Given the description of an element on the screen output the (x, y) to click on. 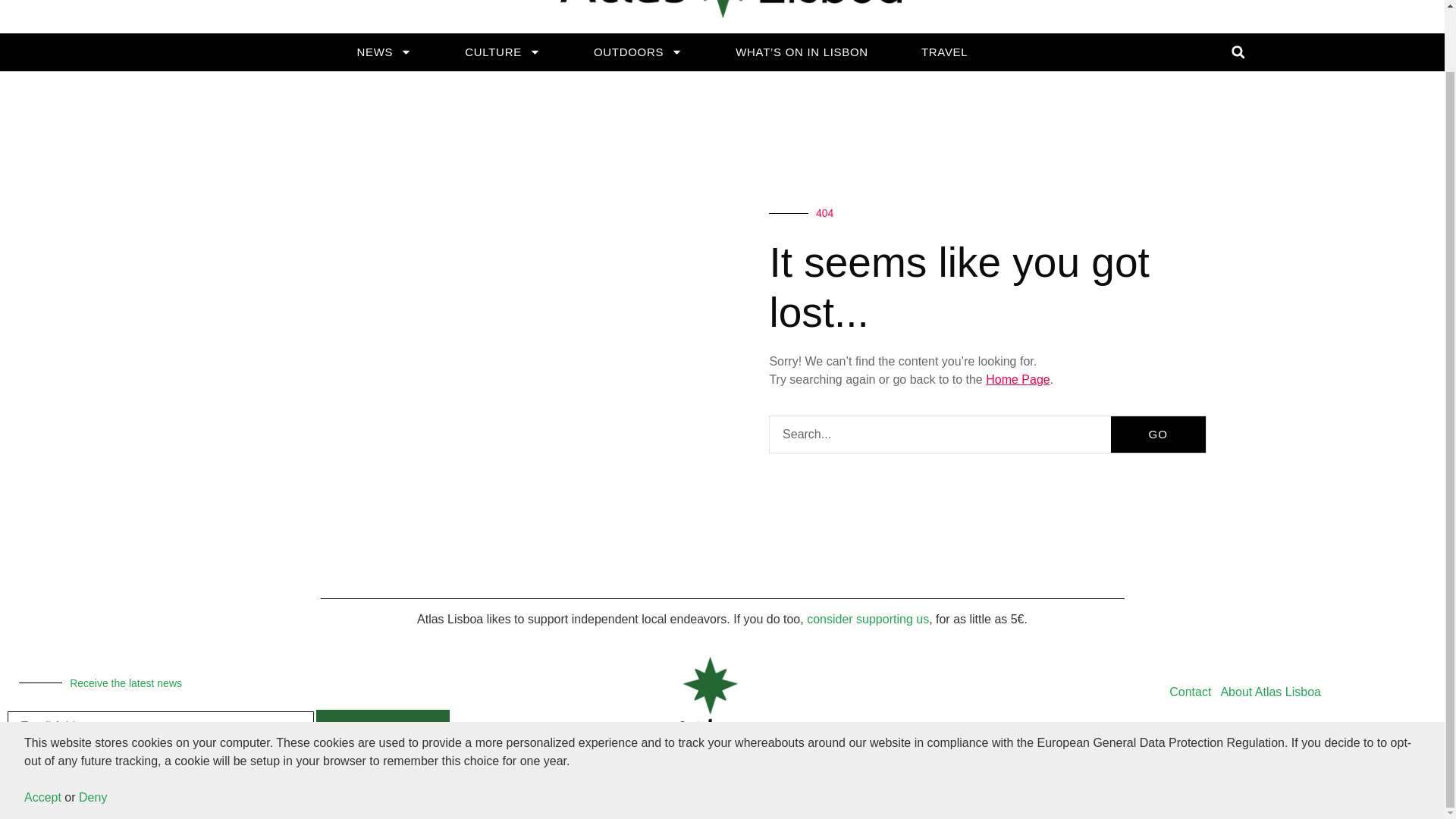
SUBSCRIBE (382, 726)
CULTURE (502, 52)
consider supporting us (867, 618)
GO (1157, 434)
Privacy Policy (1206, 727)
Contact (1189, 692)
TRAVEL (944, 52)
OUTDOORS (637, 52)
About Atlas Lisboa (1269, 692)
NEWS (383, 52)
